Given the description of an element on the screen output the (x, y) to click on. 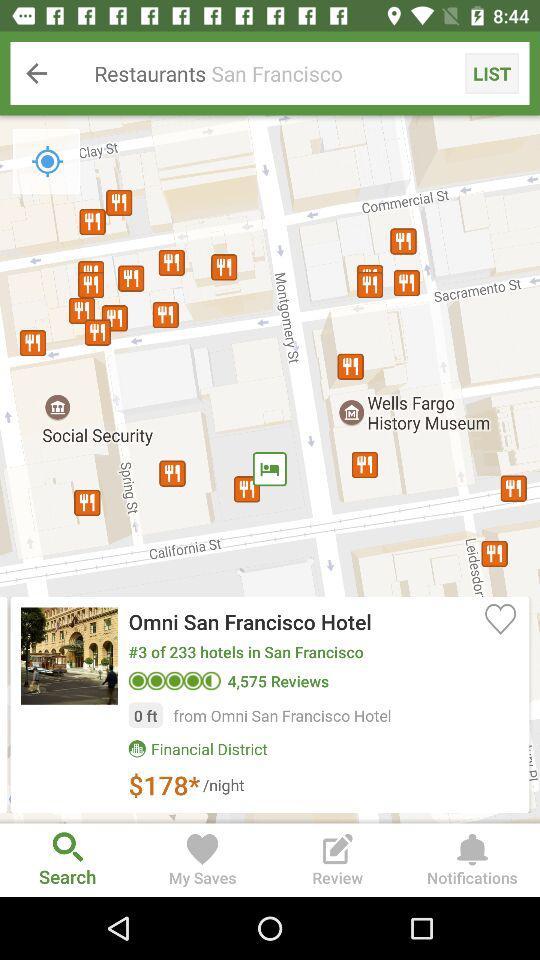
select icon on the right (500, 618)
